Given the description of an element on the screen output the (x, y) to click on. 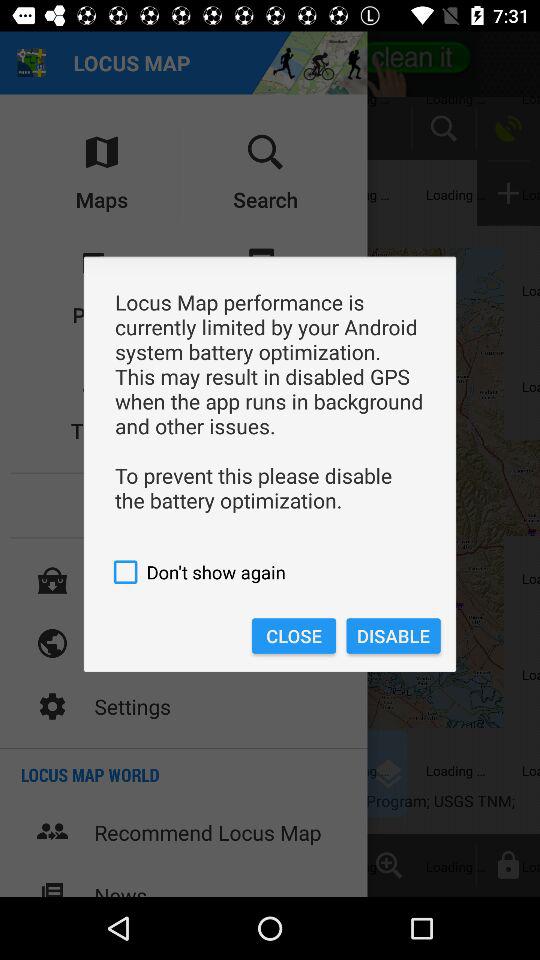
select item below don t show item (393, 635)
